Given the description of an element on the screen output the (x, y) to click on. 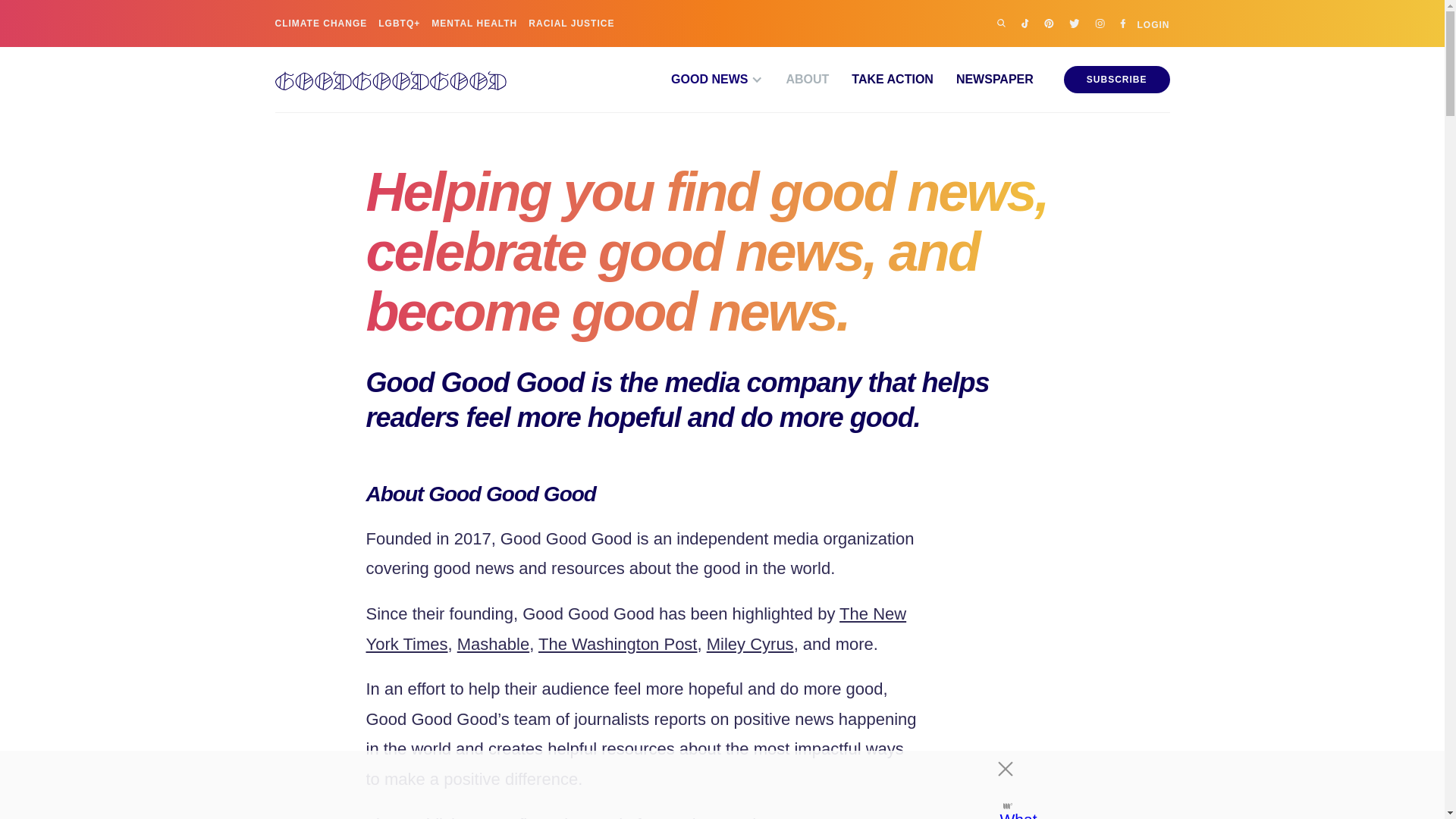
Mashable (493, 643)
LOGIN (1153, 23)
The New York Times (635, 628)
NEWSPAPER (983, 79)
3rd party ad content (708, 785)
CLIMATE CHANGE (320, 22)
MENTAL HEALTH (473, 22)
TAKE ACTION (880, 79)
Miley Cyrus (749, 643)
ABOUT (795, 79)
SUBSCRIBE (1117, 79)
The Washington Post (617, 643)
RACIAL JUSTICE (571, 22)
